Given the description of an element on the screen output the (x, y) to click on. 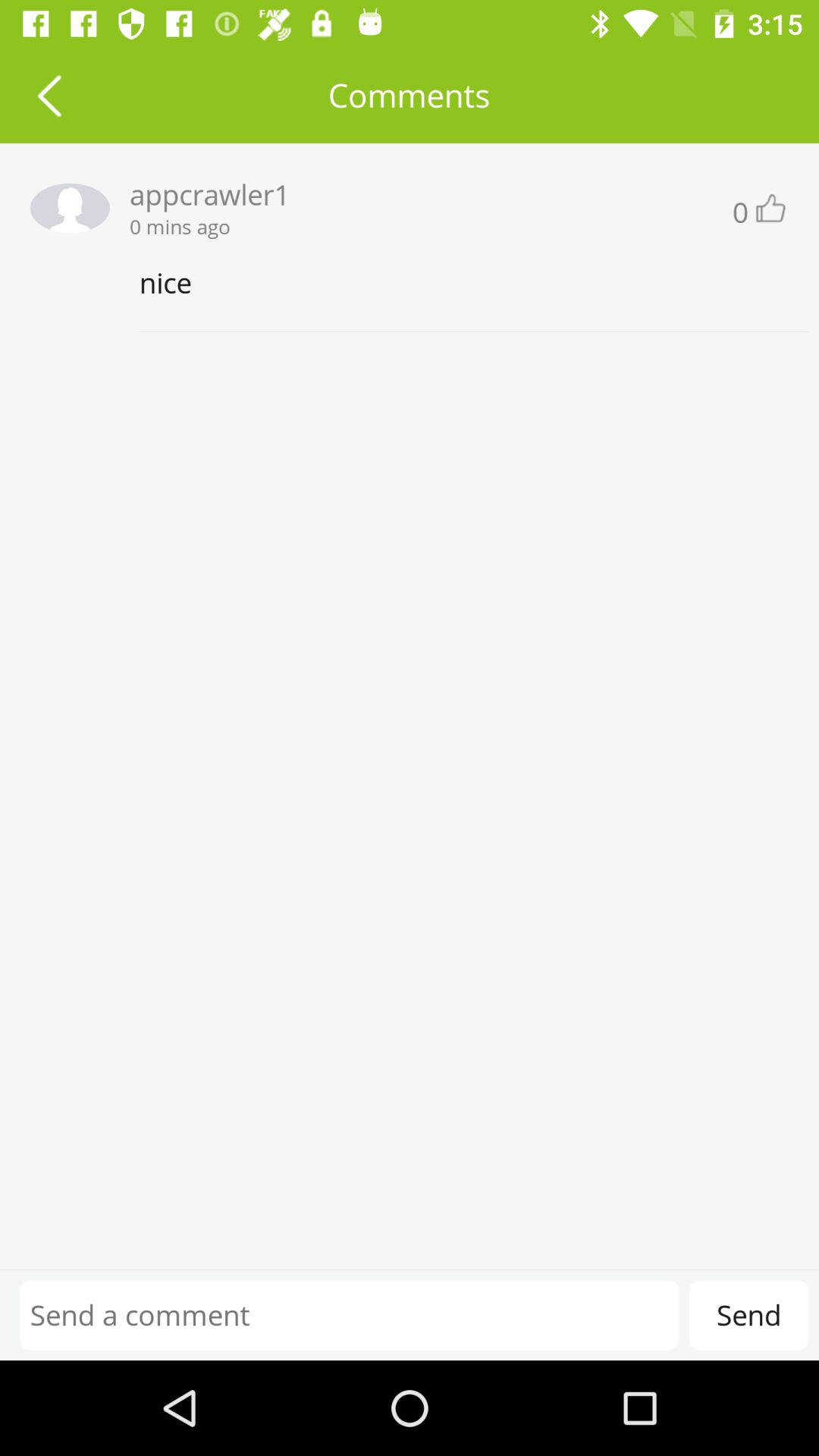
go back (48, 95)
